Given the description of an element on the screen output the (x, y) to click on. 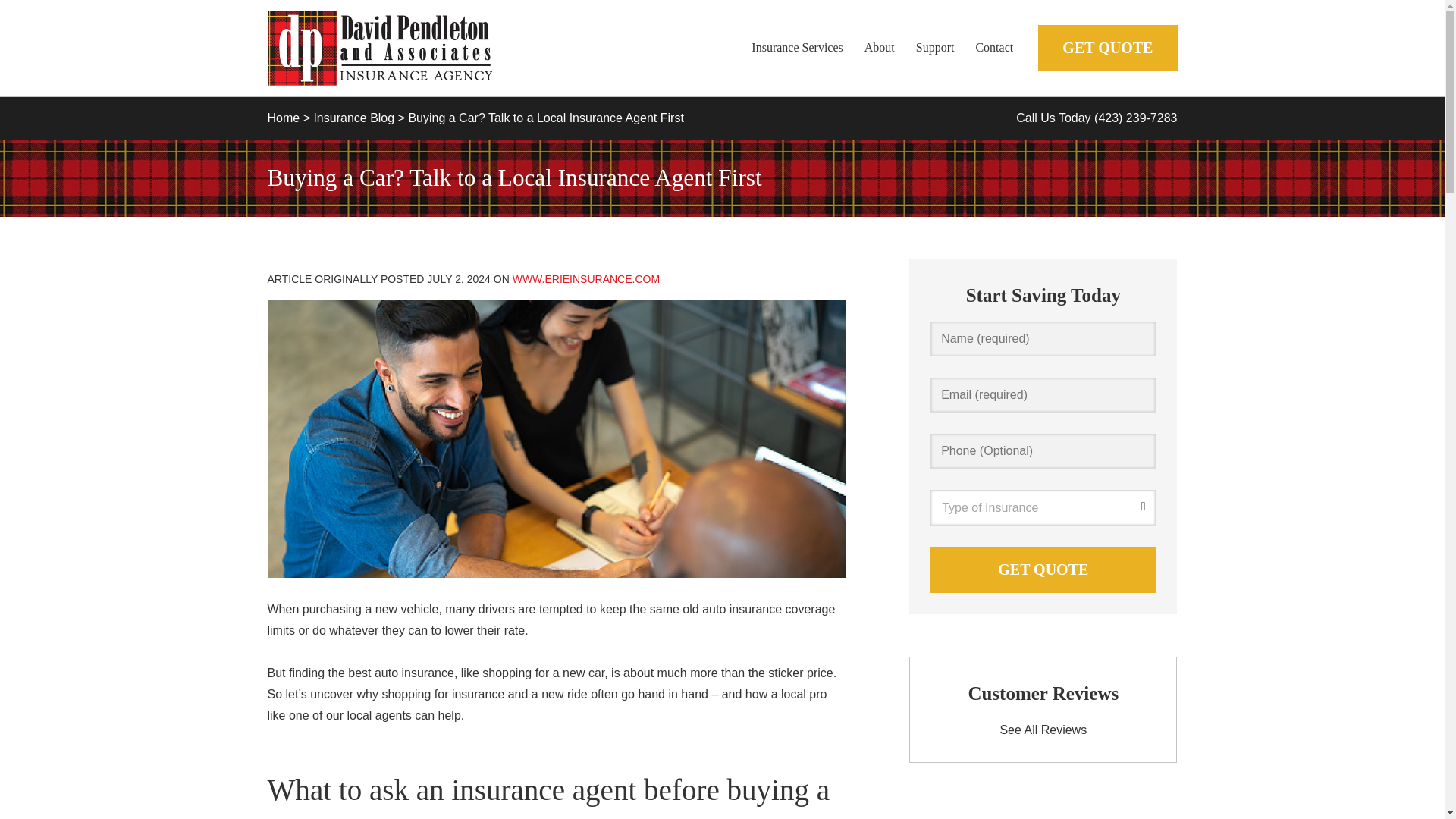
About (879, 47)
Insurance Services (797, 47)
Home Page (411, 47)
Support (935, 47)
Brad Pendleton Logo (380, 47)
Get Quote (1043, 569)
